Given the description of an element on the screen output the (x, y) to click on. 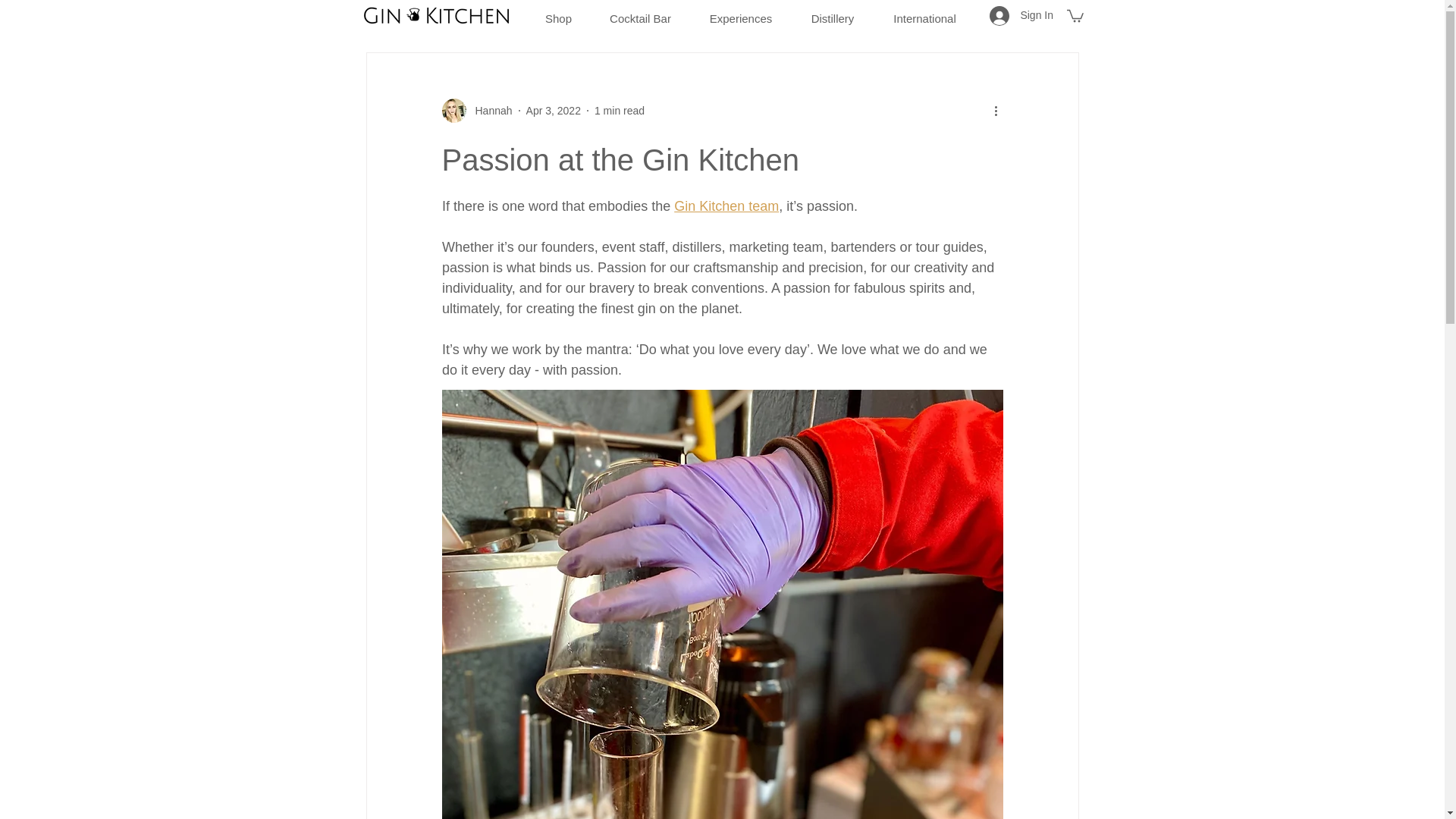
International (924, 12)
Cocktail Bar (640, 12)
Gin Kitchen logo (436, 15)
Shop (558, 12)
Apr 3, 2022 (552, 110)
Experiences (741, 12)
Distillery (832, 12)
Sign In (1021, 15)
1 min read (619, 110)
Hannah (476, 110)
Hannah (488, 110)
